Given the description of an element on the screen output the (x, y) to click on. 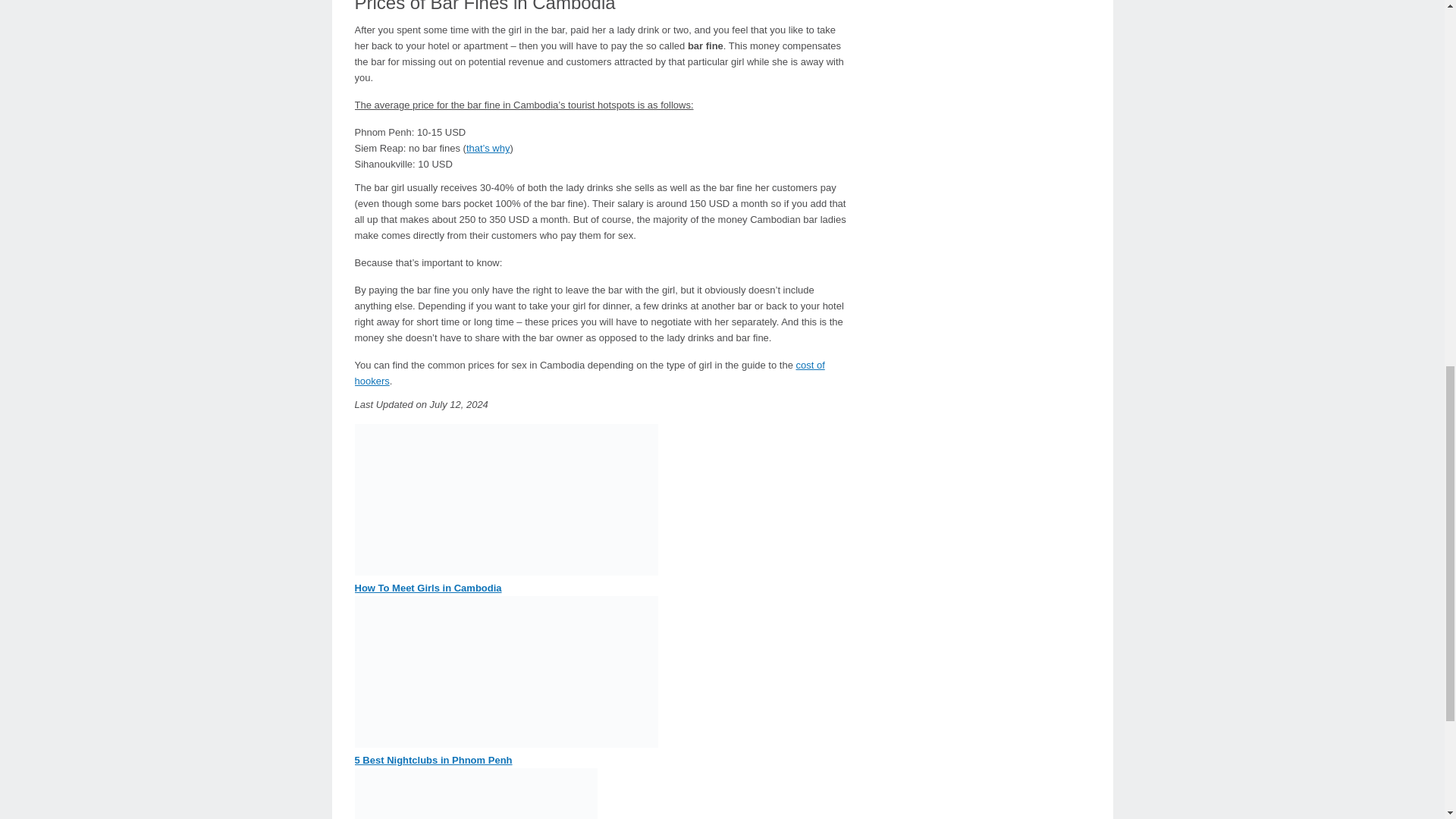
5 Best Nightclubs in Phnom Penh (433, 759)
cost of hookers (590, 372)
How To Meet Girls in Cambodia (428, 587)
